Given the description of an element on the screen output the (x, y) to click on. 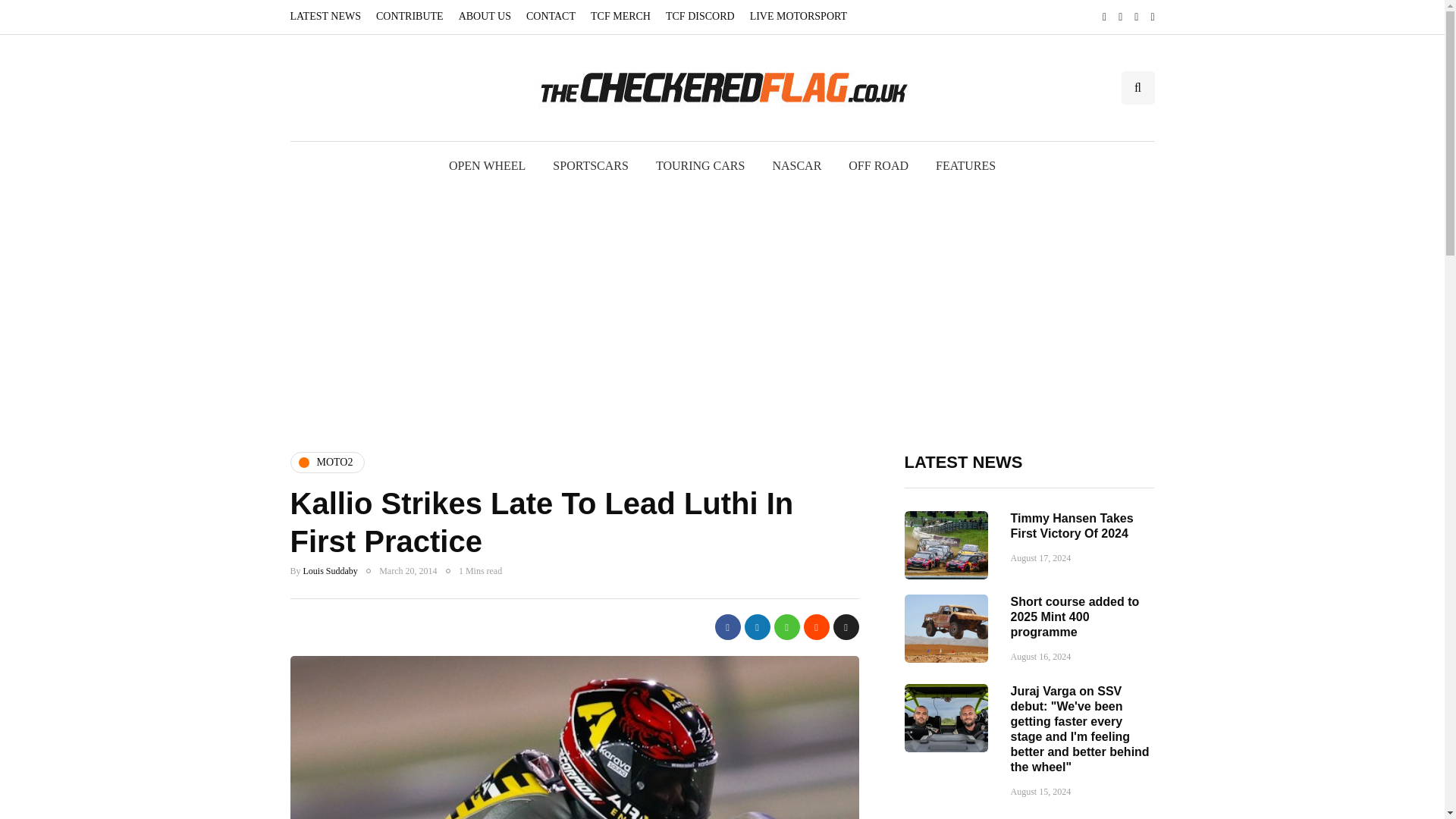
Share on Reddit (816, 626)
NASCAR (796, 164)
ABOUT US (484, 17)
SPORTSCARS (590, 164)
Share with Facebook (726, 626)
LIVE MOTORSPORT (798, 17)
Posts by Louis Suddaby (330, 570)
CONTACT (550, 17)
TOURING CARS (700, 164)
CONTRIBUTE (409, 17)
